Given the description of an element on the screen output the (x, y) to click on. 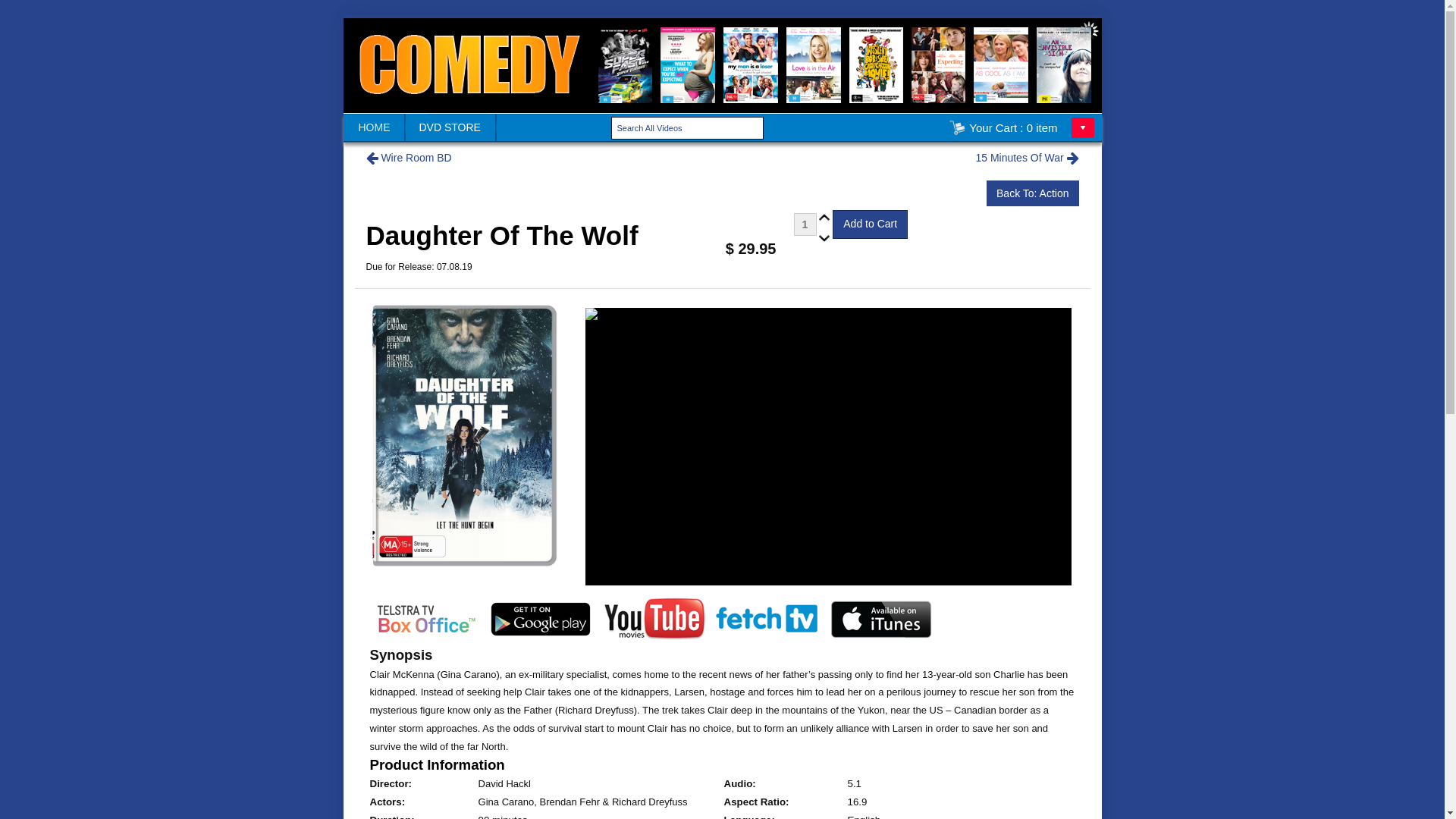
Back To: Action Element type: text (1032, 193)
HOME Element type: text (373, 127)
Add to Cart Element type: text (869, 224)
Add to Cart Element type: hover (869, 224)
1 Element type: text (804, 224)
Wire Room BD Element type: text (408, 157)
15 Minutes Of War Element type: text (1026, 157)
DVD STORE Element type: text (449, 127)
